Given the description of an element on the screen output the (x, y) to click on. 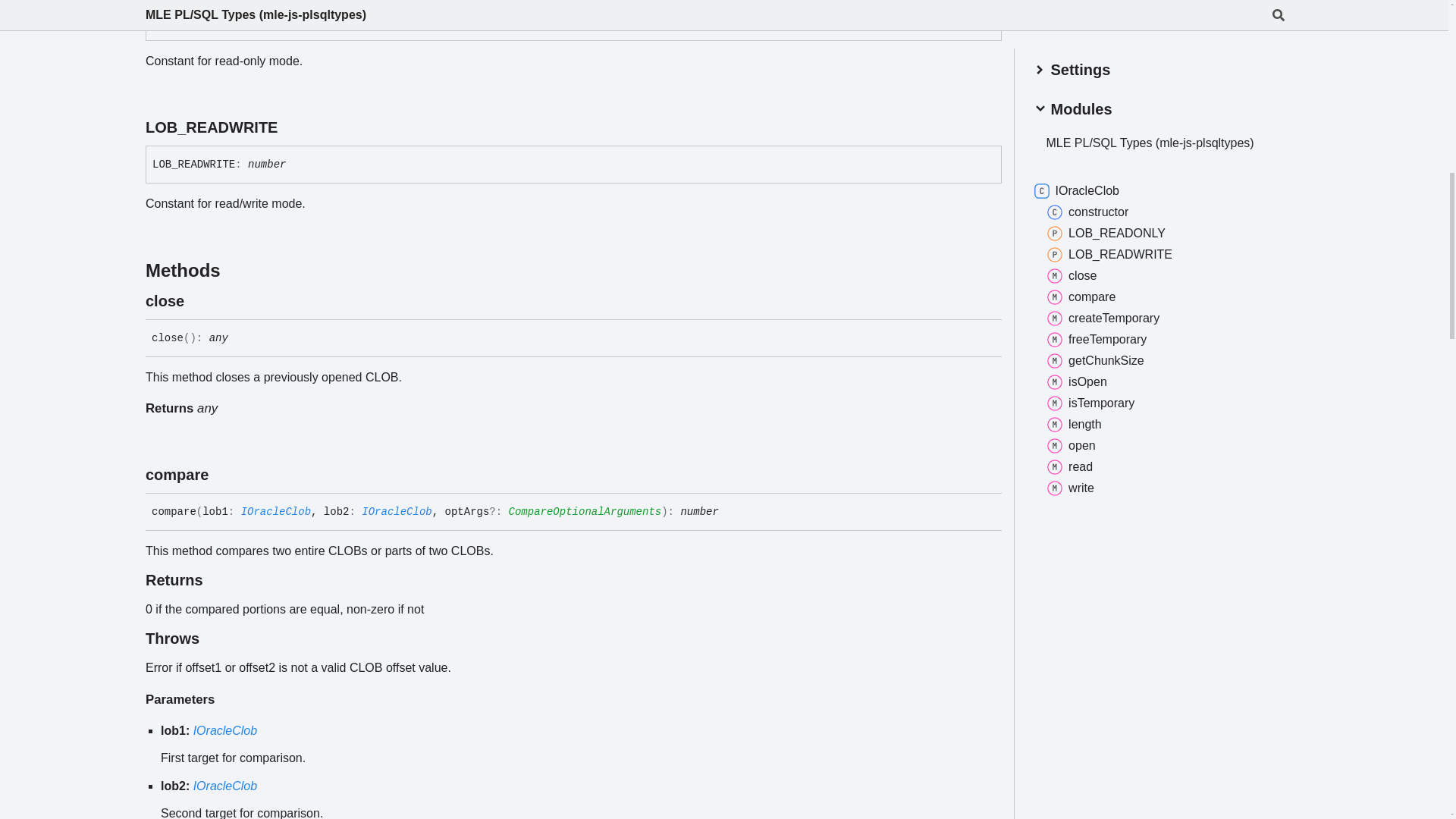
IOracleClob (276, 511)
CompareOptionalArguments (585, 511)
IOracleClob (395, 511)
IOracleClob (225, 730)
IOracleClob (225, 785)
